Given the description of an element on the screen output the (x, y) to click on. 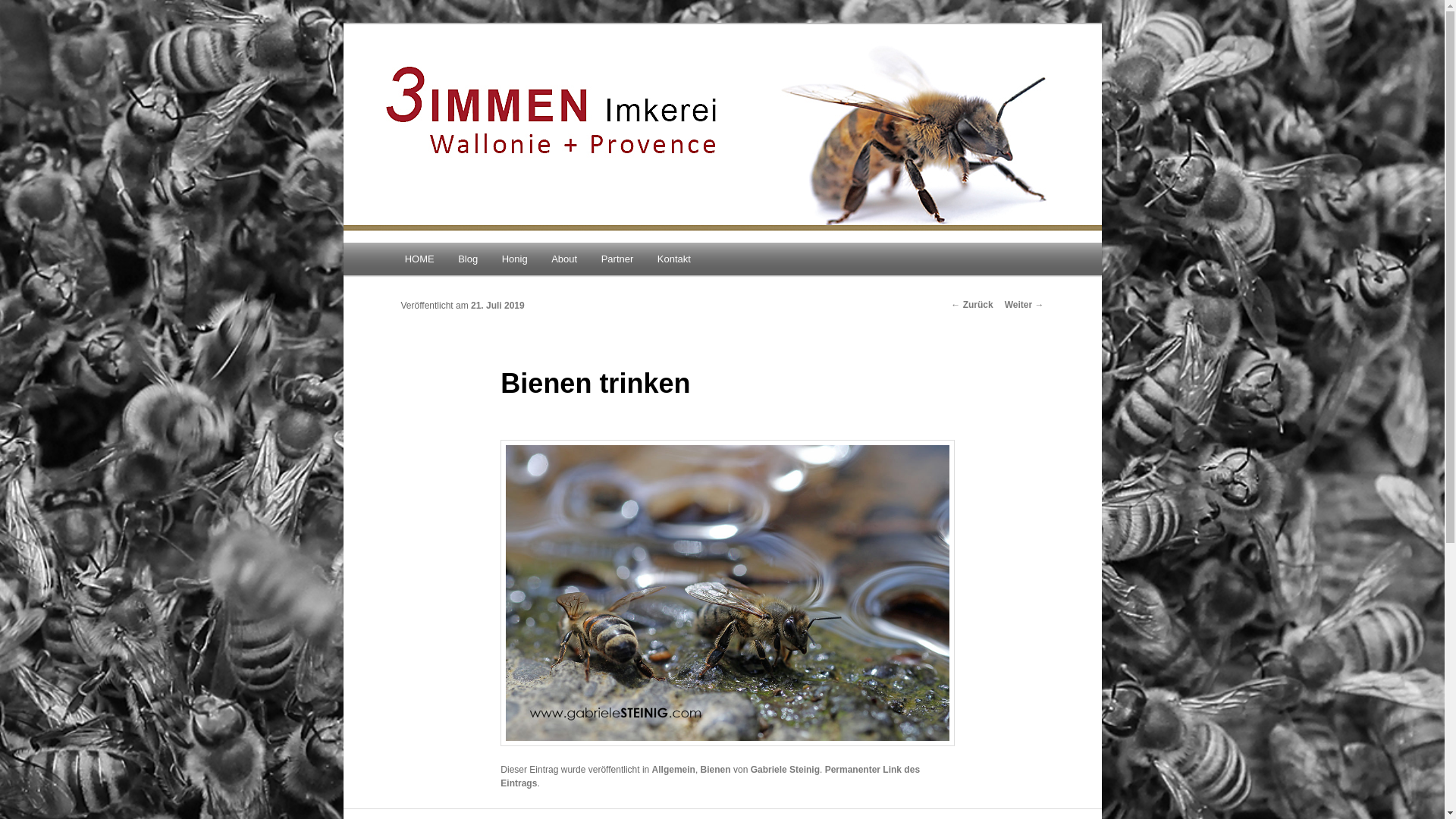
Gabriele Steinig Element type: text (784, 769)
Kontakt Element type: text (673, 258)
Bienen Element type: text (715, 769)
Permanenter Link des Eintrags Element type: text (709, 776)
3IMMEN Element type: text (444, 78)
HOME Element type: text (419, 258)
Partner Element type: text (617, 258)
21. Juli 2019 Element type: text (497, 305)
Blog Element type: text (467, 258)
Allgemein Element type: text (673, 769)
About Element type: text (563, 258)
Zum Inhalt wechseln Element type: text (414, 242)
Honig Element type: text (514, 258)
